Given the description of an element on the screen output the (x, y) to click on. 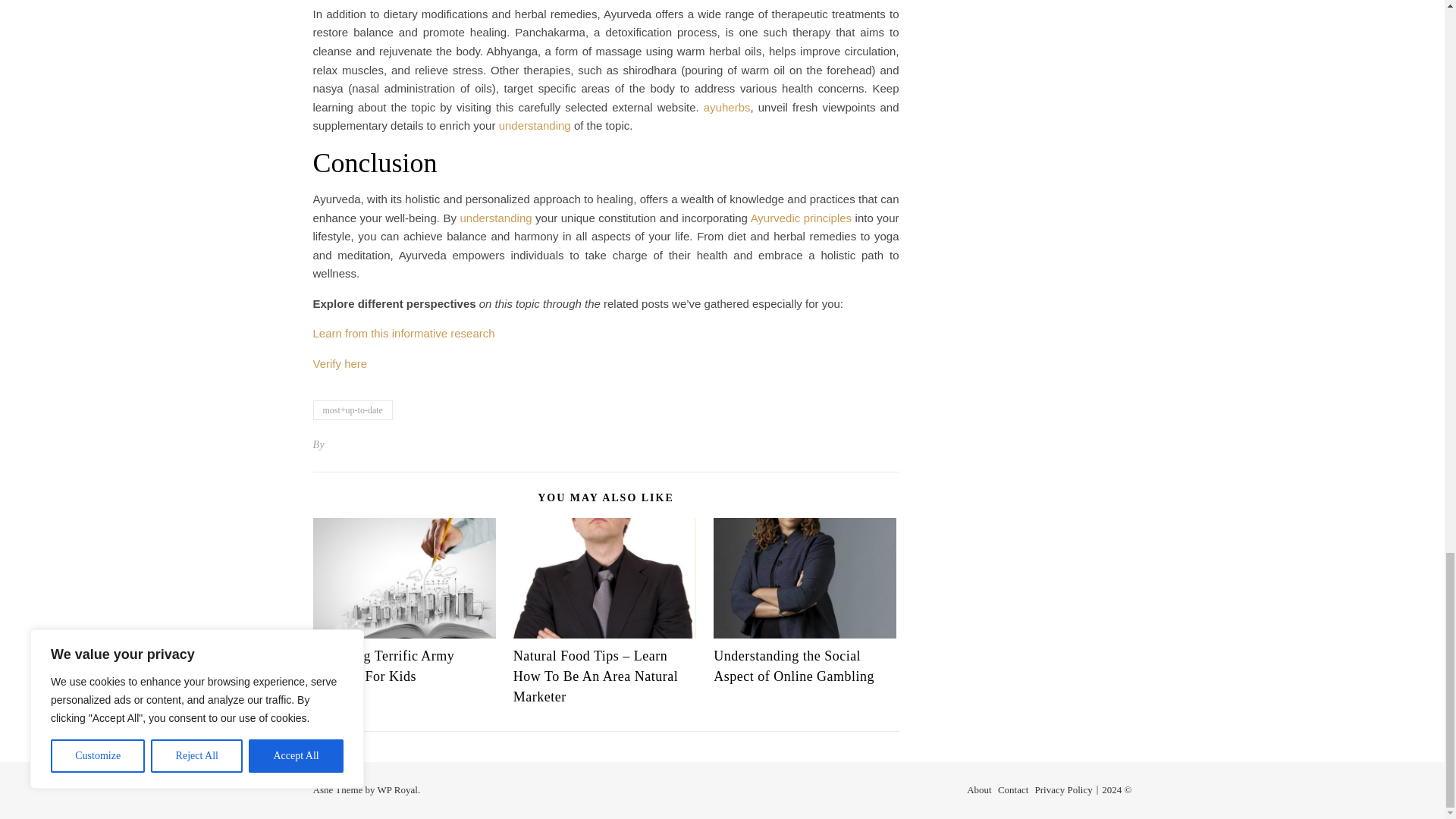
Understanding the Social Aspect of Online Gambling (794, 665)
understanding (534, 124)
Obtaining Terrific Army Presents For Kids (383, 665)
ayuherbs (727, 106)
understanding (495, 217)
Learn from this informative research (404, 332)
Ayurvedic principles (801, 217)
Verify here (339, 363)
